Given the description of an element on the screen output the (x, y) to click on. 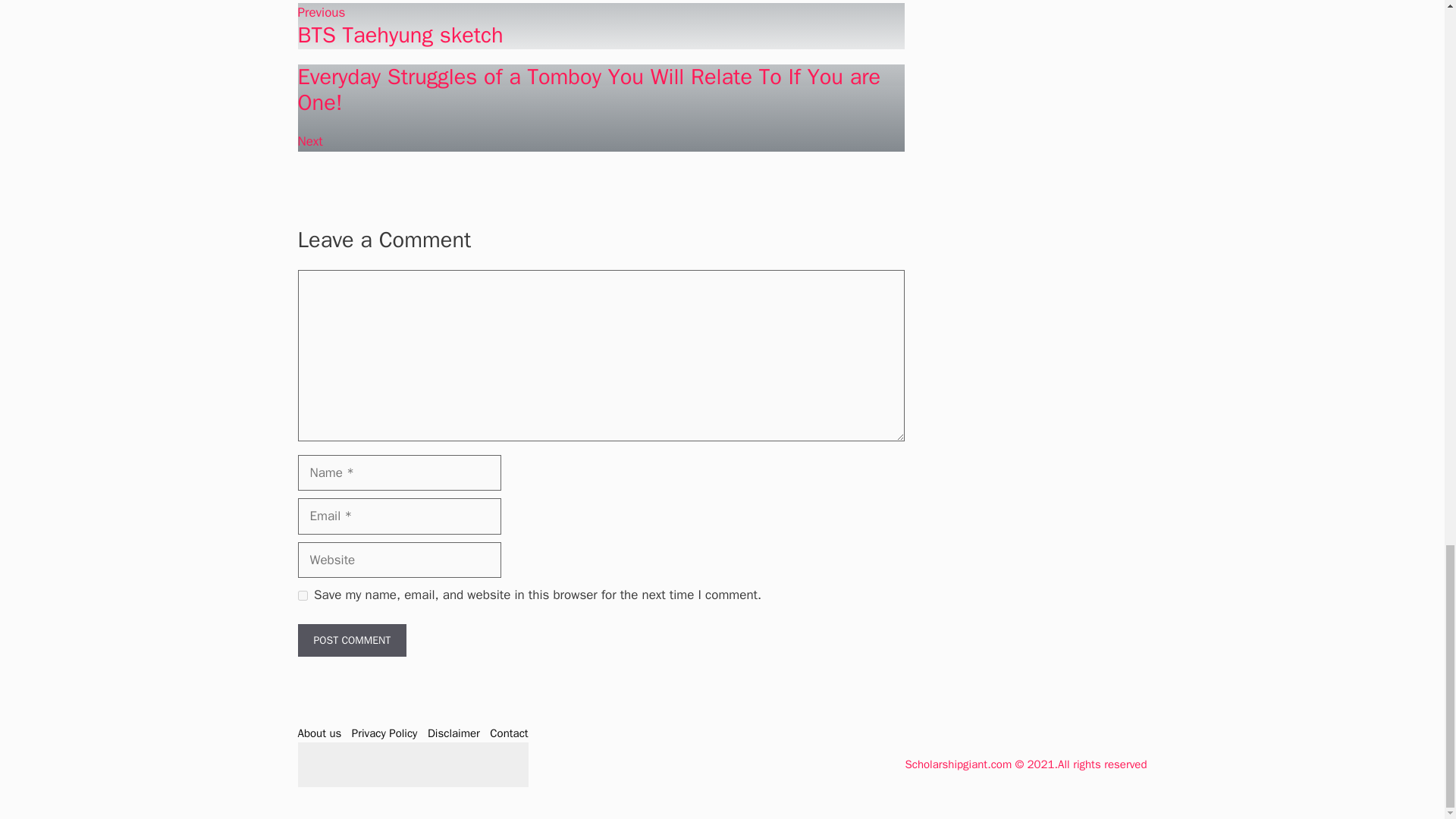
Contact (508, 733)
Post Comment (351, 640)
Post Comment (351, 640)
Disclaimer (600, 25)
Privacy Policy (454, 733)
About us (384, 733)
yes (318, 733)
